Given the description of an element on the screen output the (x, y) to click on. 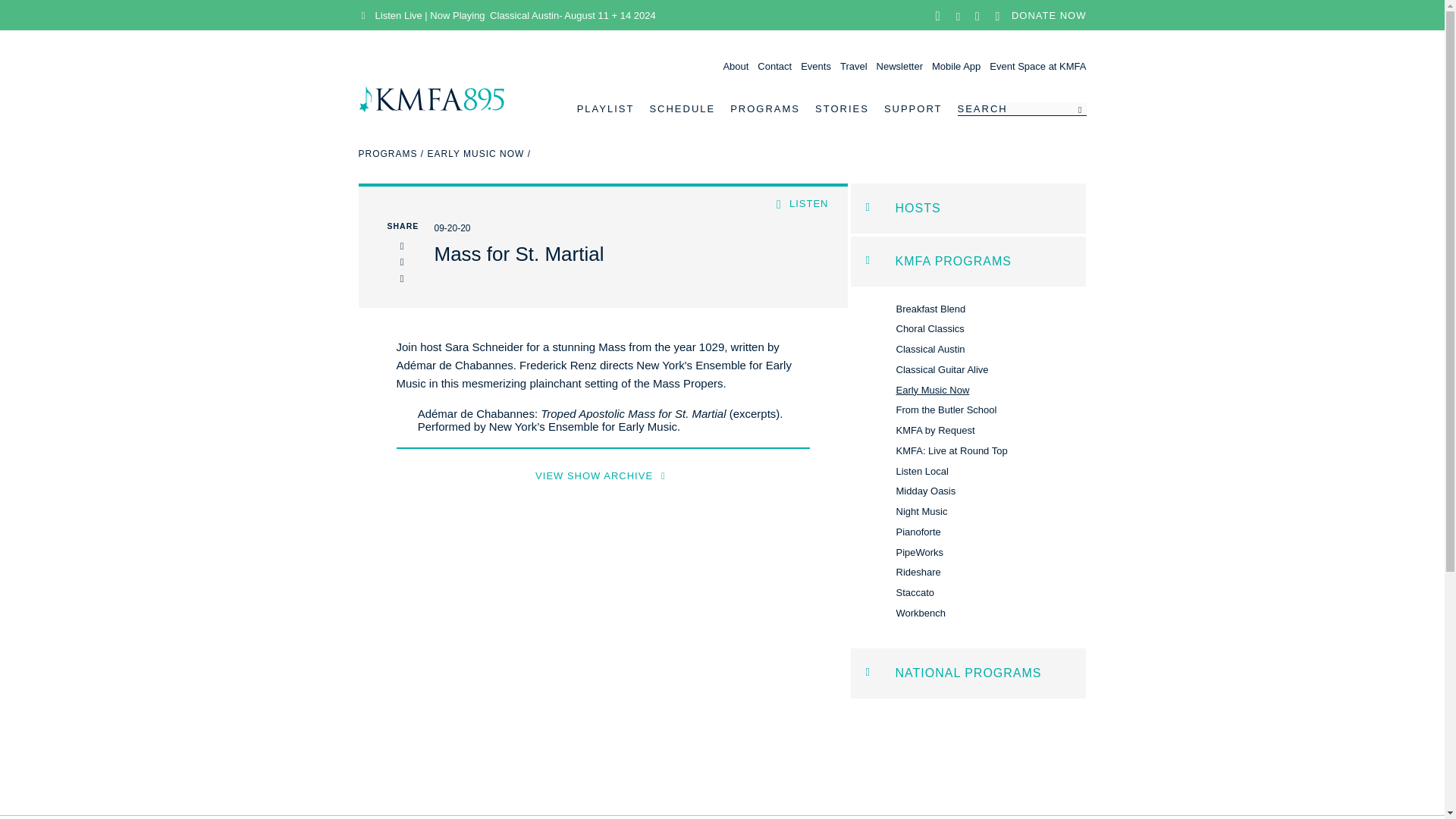
KMFA - Classically Austin (430, 109)
Events (815, 66)
SCHEDULE (681, 109)
PROGRAMS (764, 109)
PLAYLIST (605, 109)
Event Space at KMFA (1038, 66)
Travel (853, 66)
About (735, 66)
Contact (774, 66)
DONATE NOW (1048, 14)
